Given the description of an element on the screen output the (x, y) to click on. 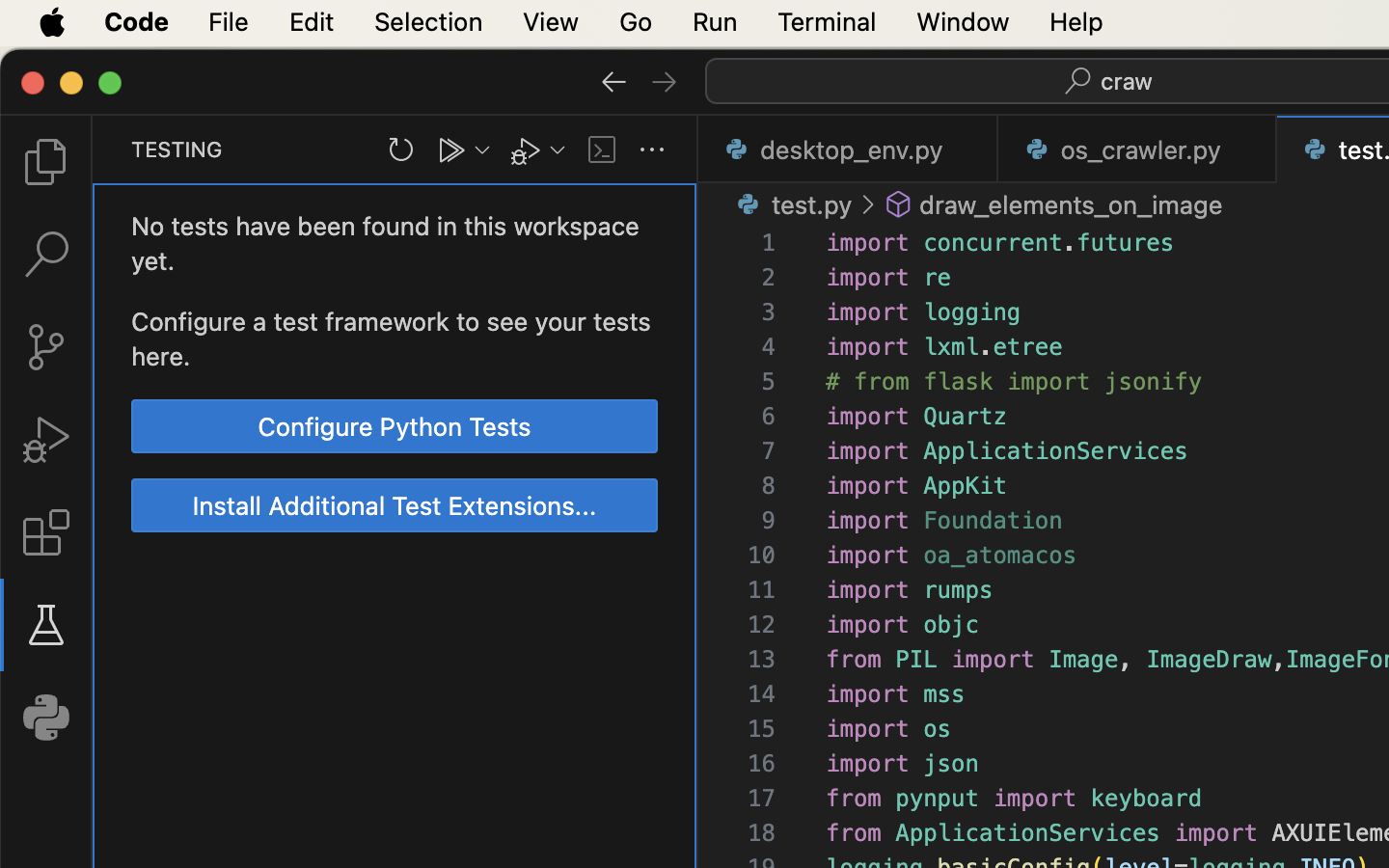
 Element type: AXButton (614, 80)
0 Element type: AXRadioButton (46, 717)
test.py  Element type: AXGroup (790, 204)
 Element type: AXStaticText (867, 204)
craw Element type: AXStaticText (1127, 80)
